Given the description of an element on the screen output the (x, y) to click on. 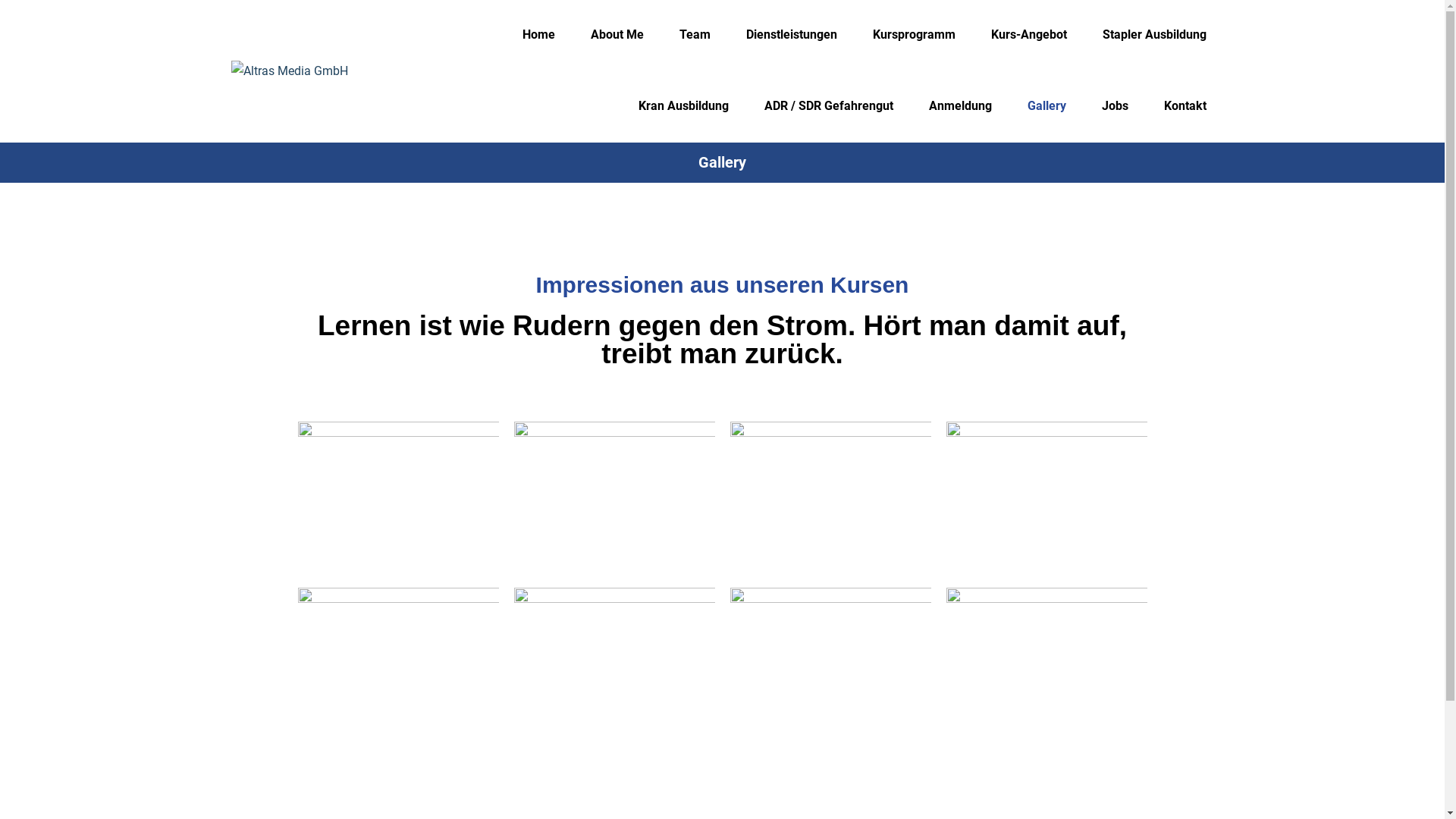
Team Element type: text (694, 34)
ADR / SDR Gefahrengut Element type: text (828, 106)
Anmeldung Element type: text (959, 106)
Kran Ausbildung Element type: text (683, 106)
Kontakt Element type: text (1184, 106)
About Me Element type: text (616, 34)
Gallery Element type: text (1046, 106)
Kursprogramm Element type: text (913, 34)
Kurs-Angebot Element type: text (1027, 34)
Jobs Element type: text (1114, 106)
Dienstleistungen Element type: text (791, 34)
Stapler Ausbildung Element type: text (1154, 34)
Home Element type: text (538, 34)
